Given the description of an element on the screen output the (x, y) to click on. 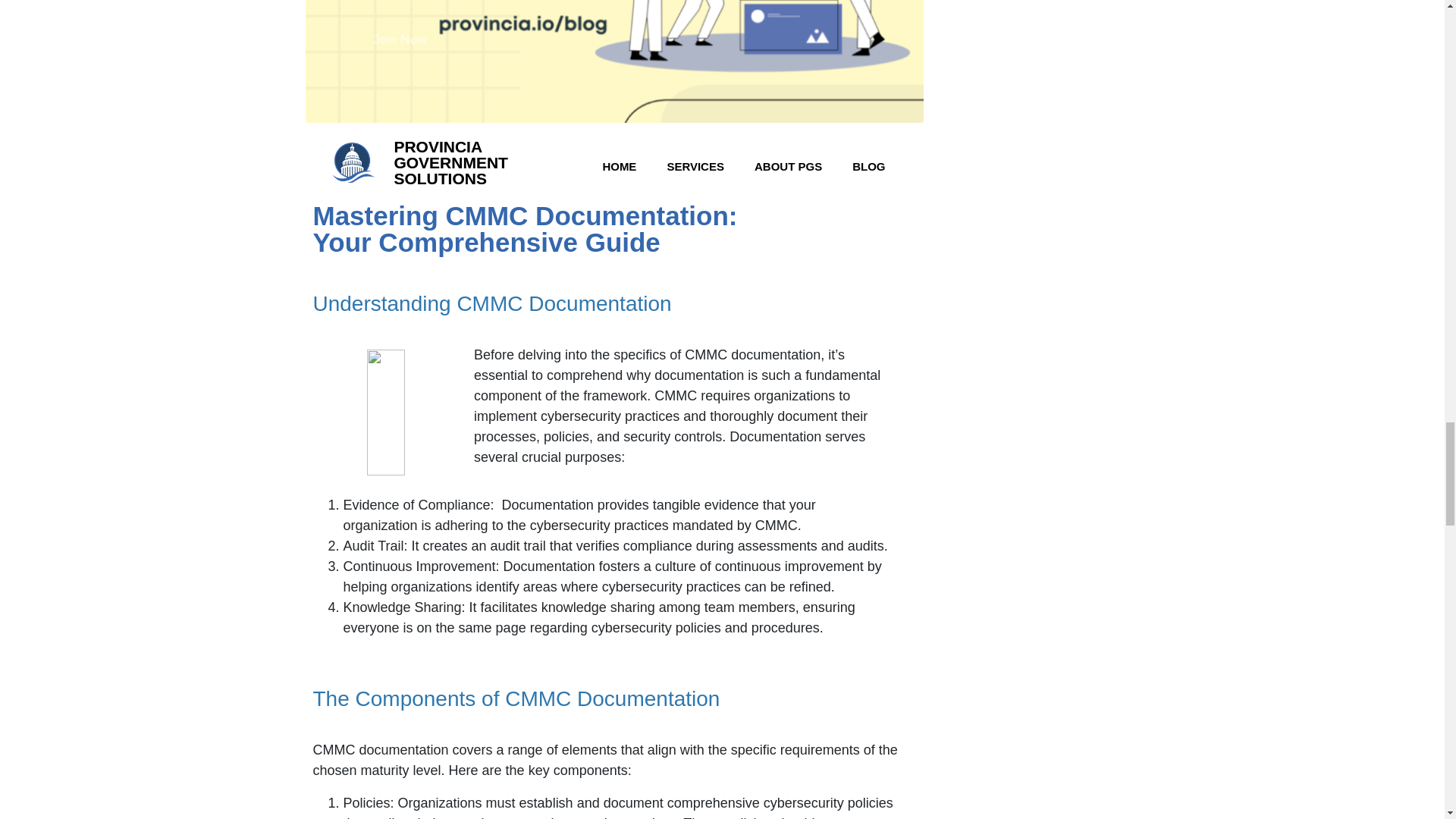
HOME (618, 166)
SERVICES (694, 166)
PROVINCIA GOVERNMENT SOLUTIONS (450, 162)
